Given the description of an element on the screen output the (x, y) to click on. 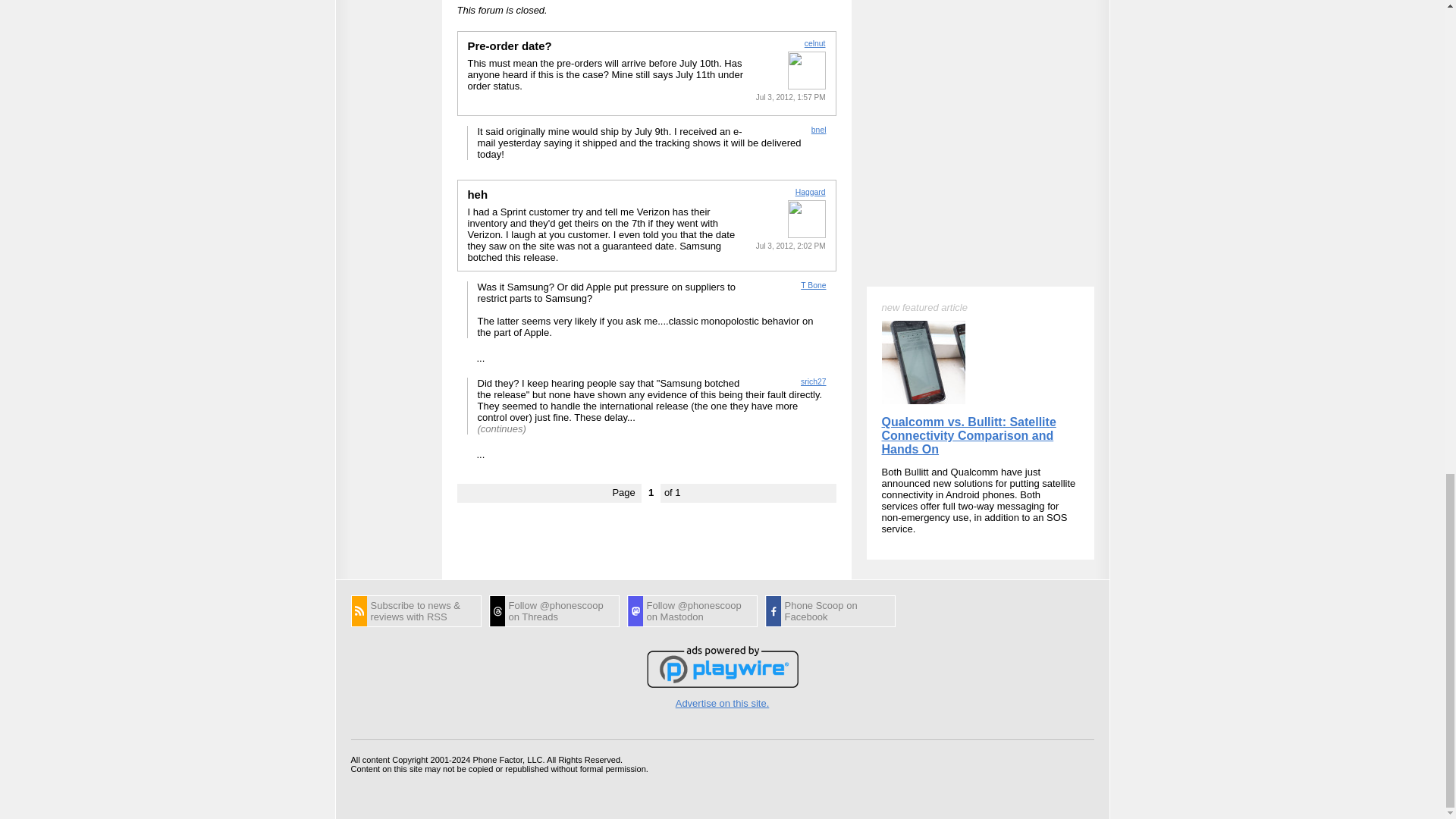
bnel (818, 130)
celnut (815, 43)
Haggard (809, 191)
T Bone (812, 285)
Phone Scoop - Latest News (415, 611)
srich27 (813, 381)
